Given the description of an element on the screen output the (x, y) to click on. 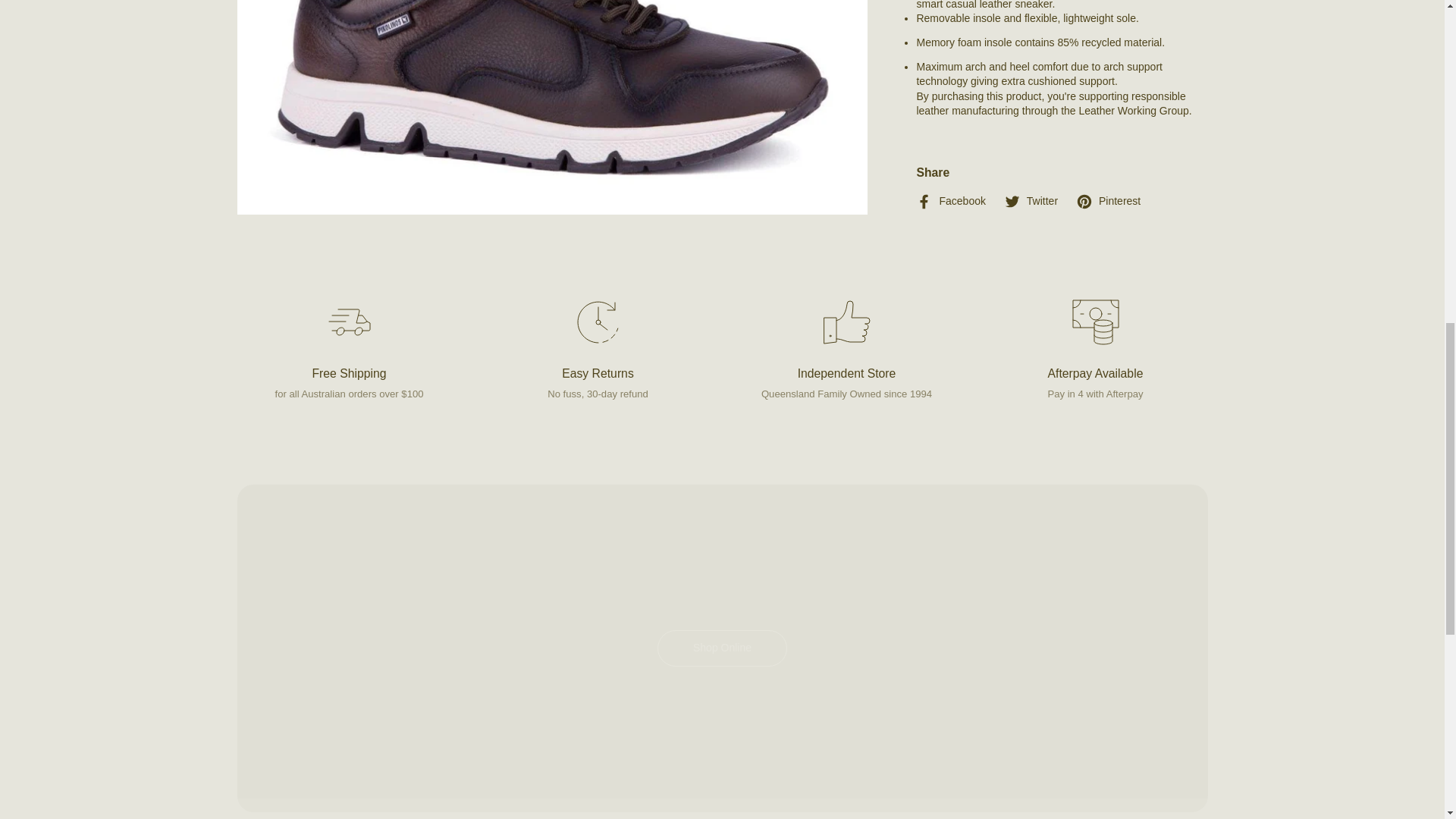
Share on twitter (1031, 201)
Share on facebook (950, 201)
Share on pinterest (1107, 201)
